Given the description of an element on the screen output the (x, y) to click on. 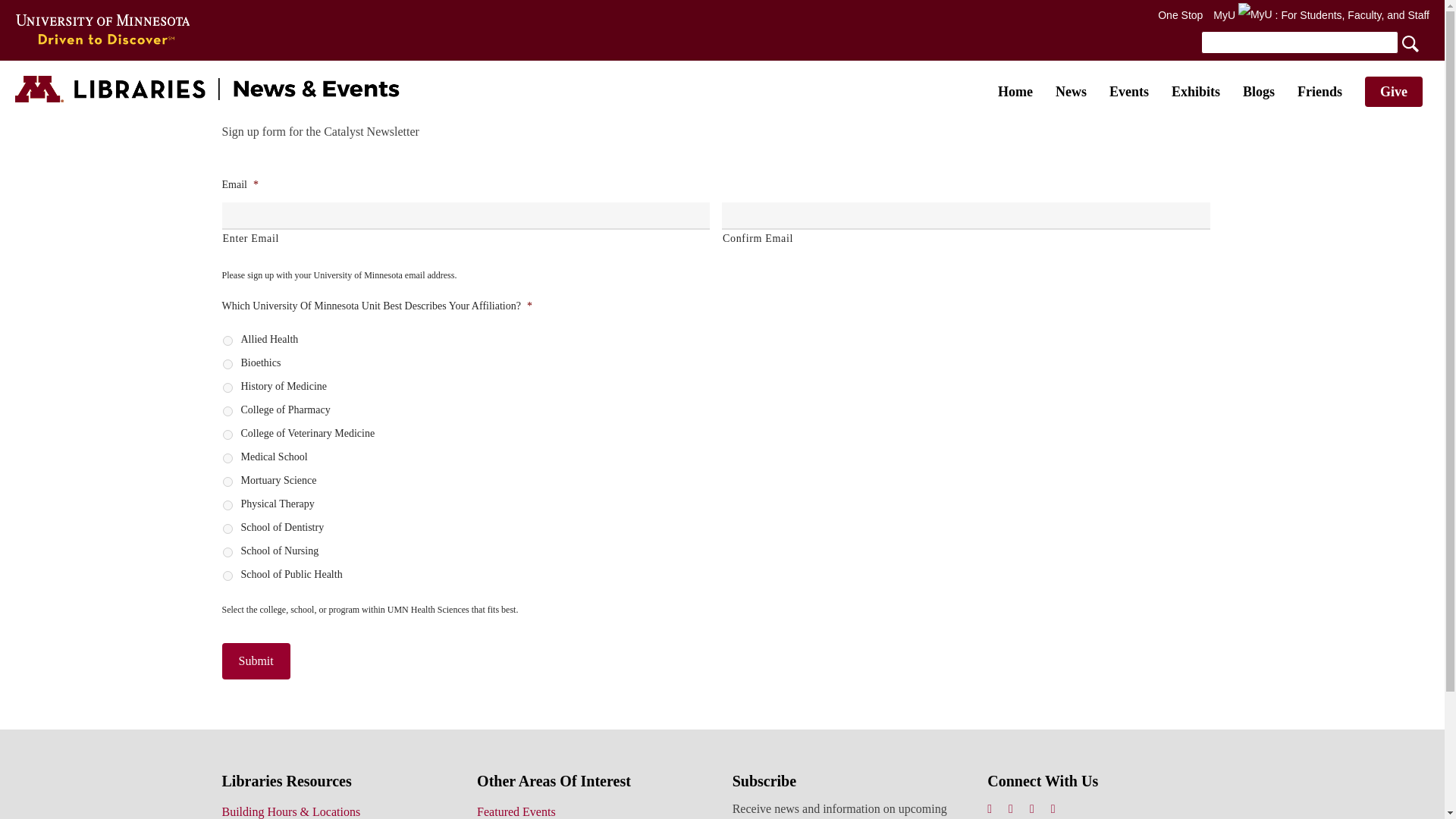
MyU : For Students, Faculty, and Staff (1320, 15)
Friends (1319, 91)
Submit (255, 660)
School of Public Health (227, 575)
Submit (255, 660)
Exhibits (1196, 91)
Home (1014, 91)
Bioethics (227, 364)
Search (1313, 42)
College of Veterinary Medicine (227, 434)
